Given the description of an element on the screen output the (x, y) to click on. 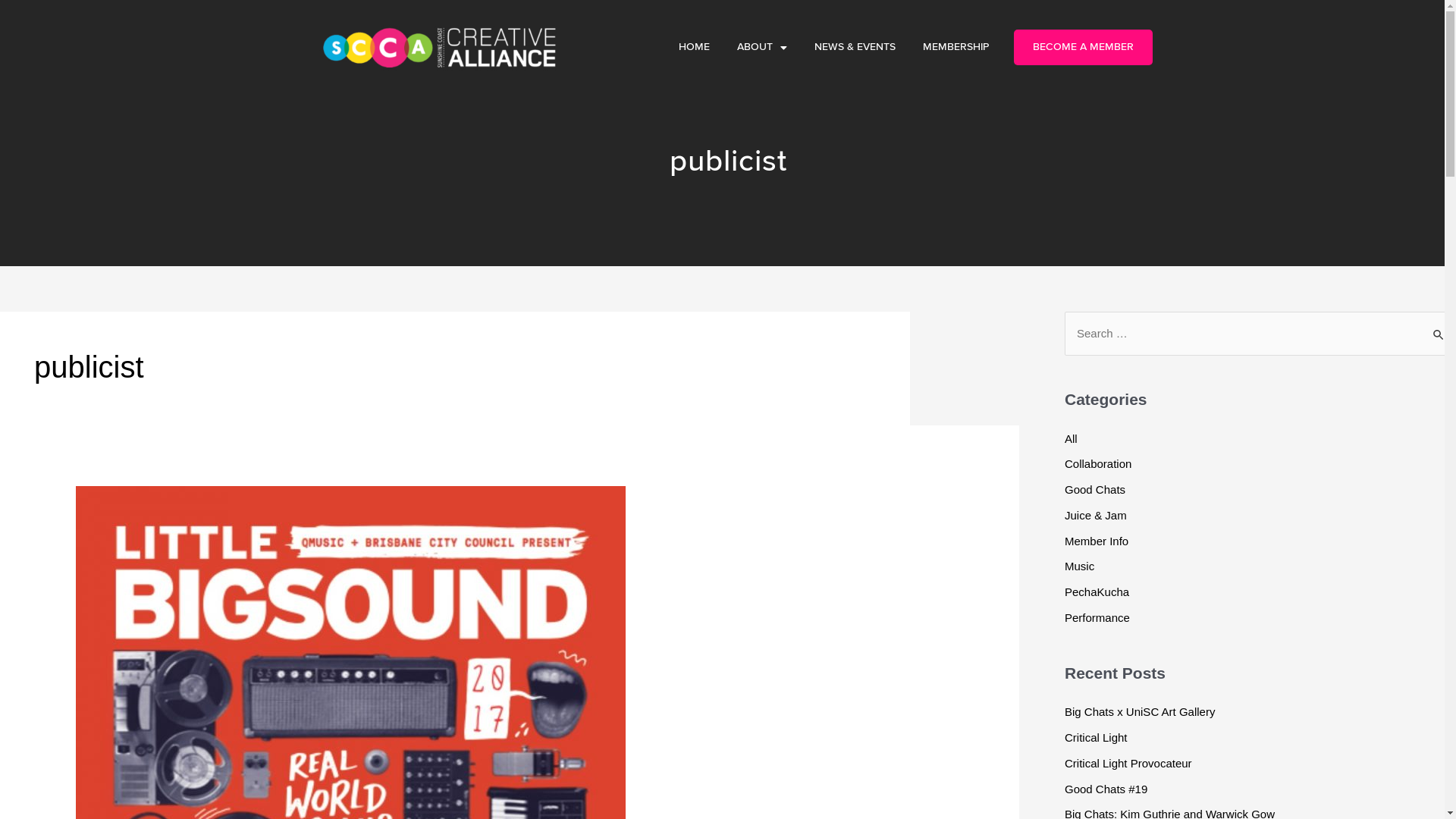
Performance Element type: text (1096, 617)
Member Info Element type: text (1096, 539)
Good Chats Element type: text (1094, 489)
MEMBERSHIP Element type: text (955, 46)
ABOUT Element type: text (761, 46)
Music Element type: text (1079, 565)
Good Chats #19 Element type: text (1105, 788)
BECOME A MEMBER Element type: text (1082, 47)
Critical Light Element type: text (1095, 737)
NEWS & EVENTS Element type: text (854, 46)
Collaboration Element type: text (1097, 463)
Big Chats x UniSC Art Gallery Element type: text (1139, 711)
HOME Element type: text (694, 46)
Juice & Jam Element type: text (1095, 514)
All Element type: text (1070, 438)
Critical Light Provocateur Element type: text (1128, 762)
PechaKucha Element type: text (1096, 591)
